Given the description of an element on the screen output the (x, y) to click on. 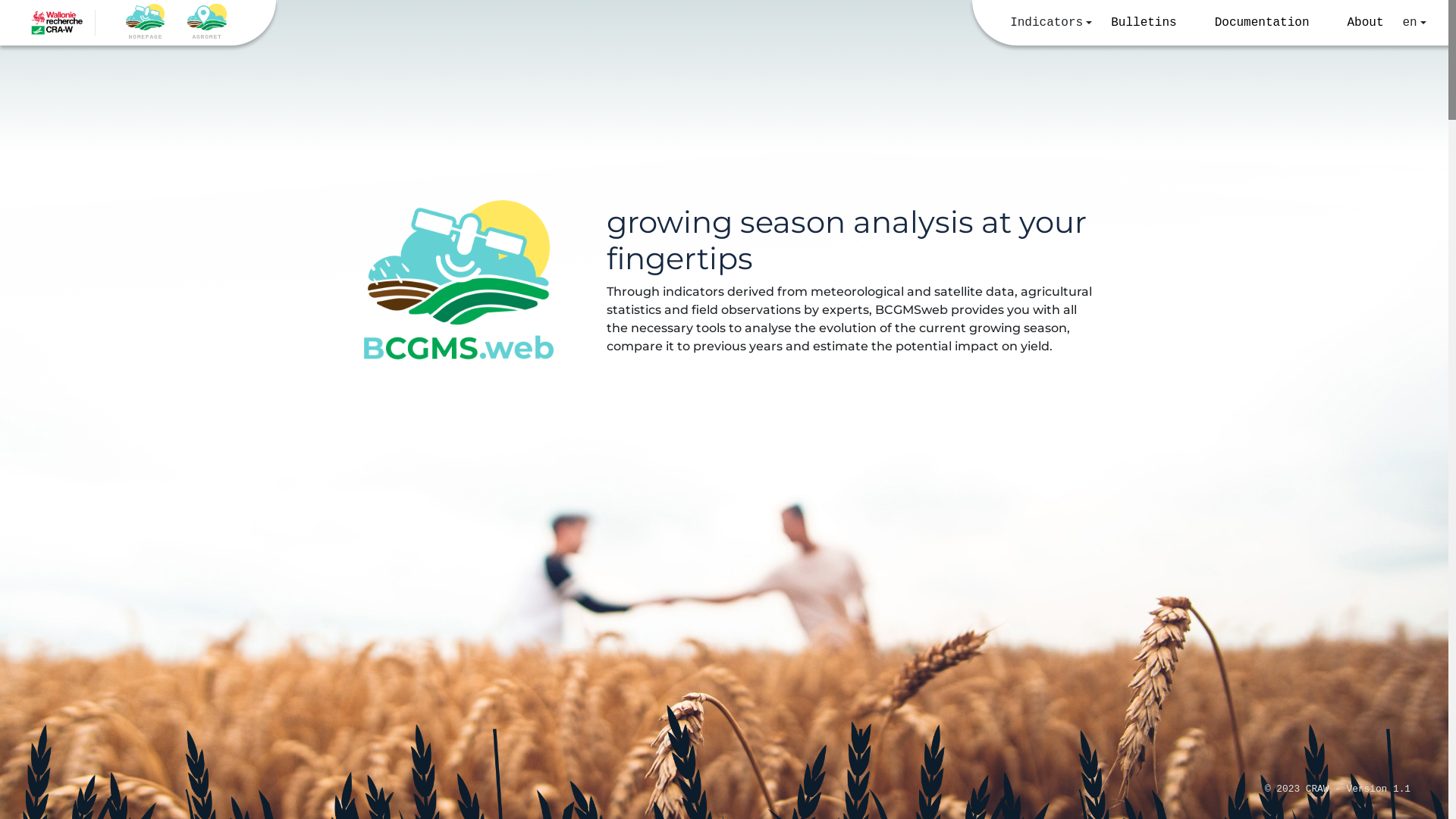
Documentation Element type: text (1261, 22)
AGROMET Element type: text (206, 22)
en Element type: text (1414, 22)
About Element type: text (1365, 22)
Indicators Element type: text (1051, 22)
HOMEPAGE Element type: text (144, 22)
Bulletins Element type: text (1143, 22)
